Given the description of an element on the screen output the (x, y) to click on. 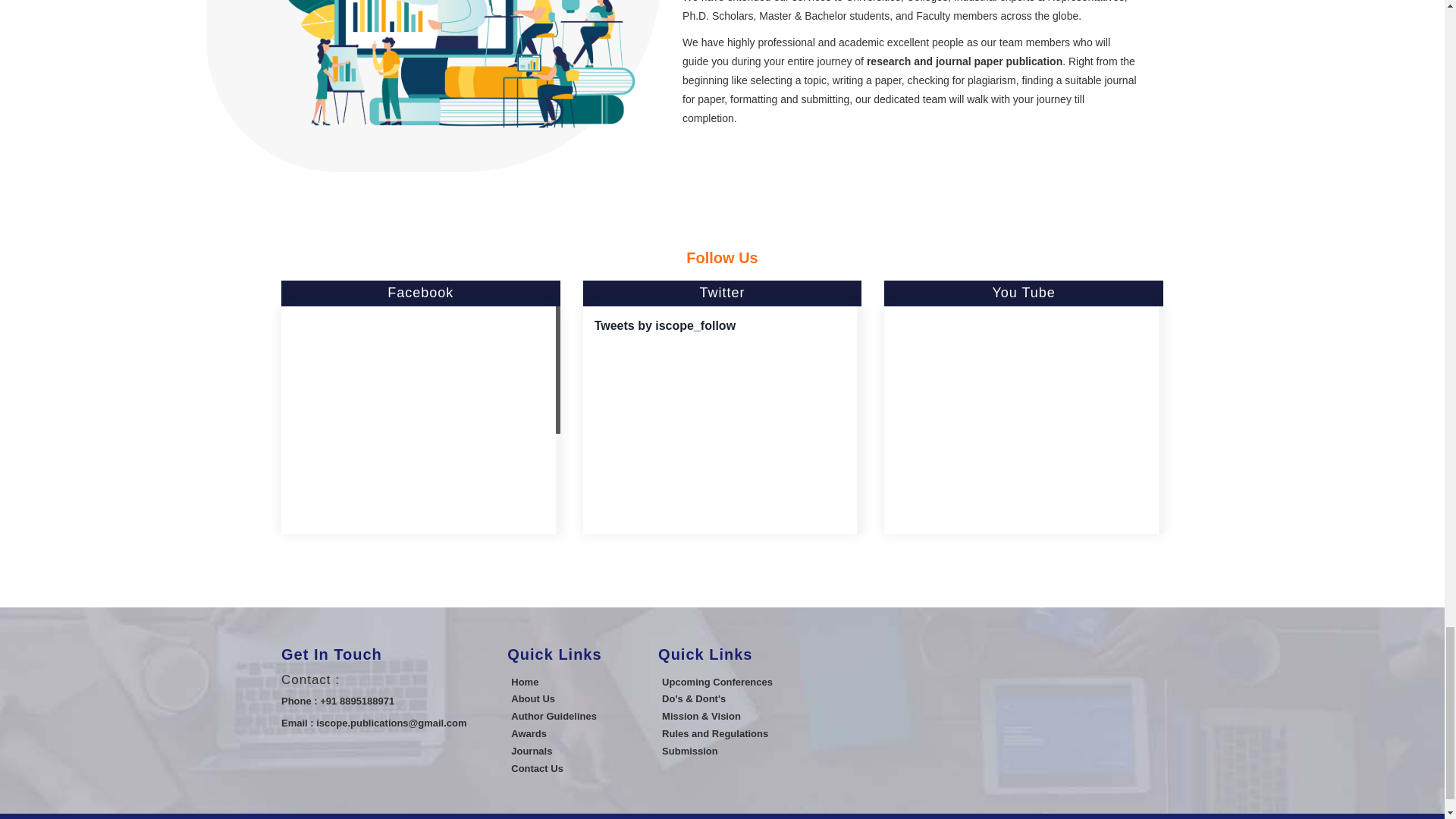
YouTube video player (1021, 416)
Author Guidelines (552, 715)
